Given the description of an element on the screen output the (x, y) to click on. 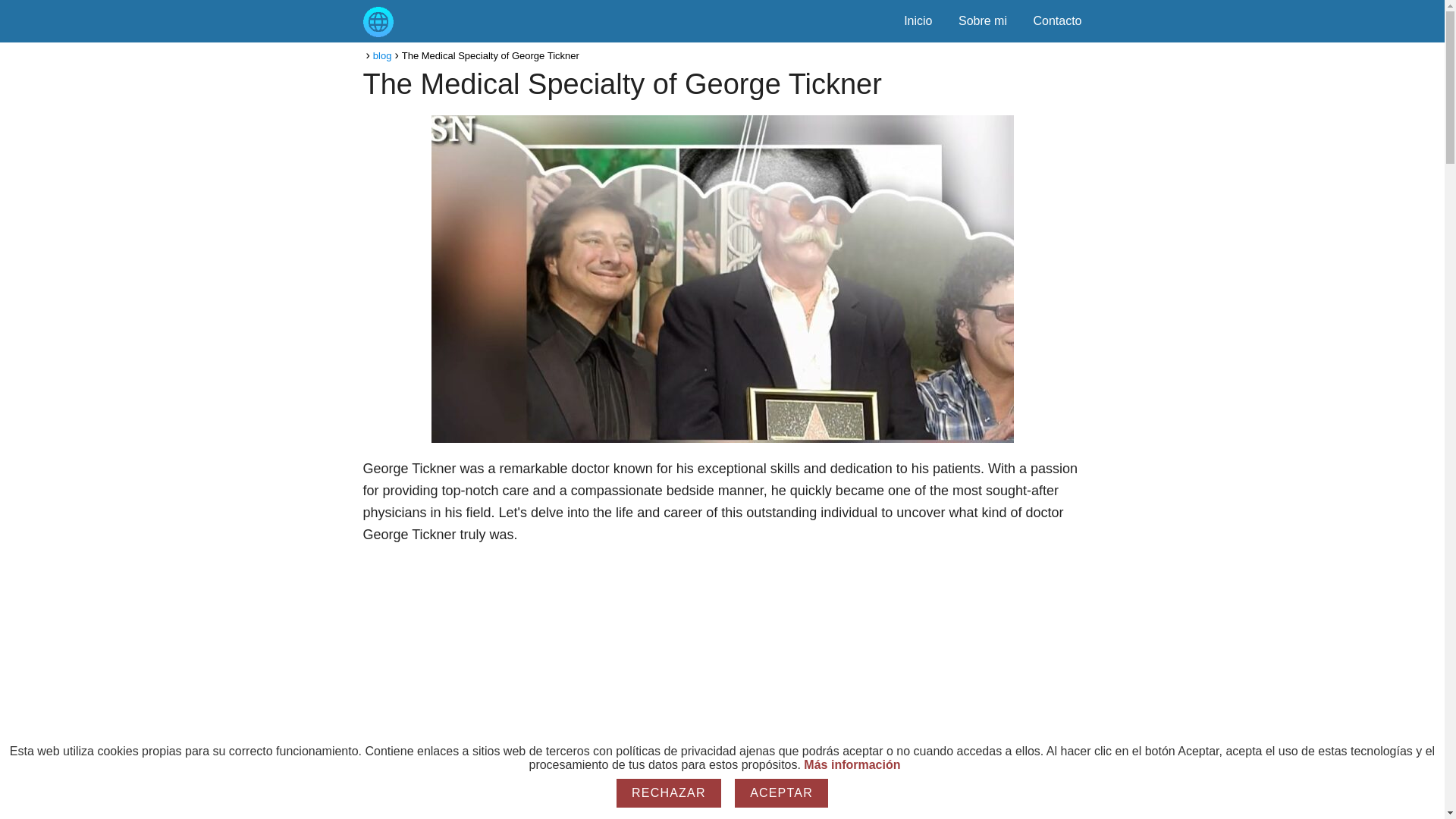
RECHAZAR (668, 793)
Sobre mi (982, 20)
Inicio (917, 20)
ACEPTAR (780, 793)
Contacto (1056, 20)
blog (381, 55)
